Given the description of an element on the screen output the (x, y) to click on. 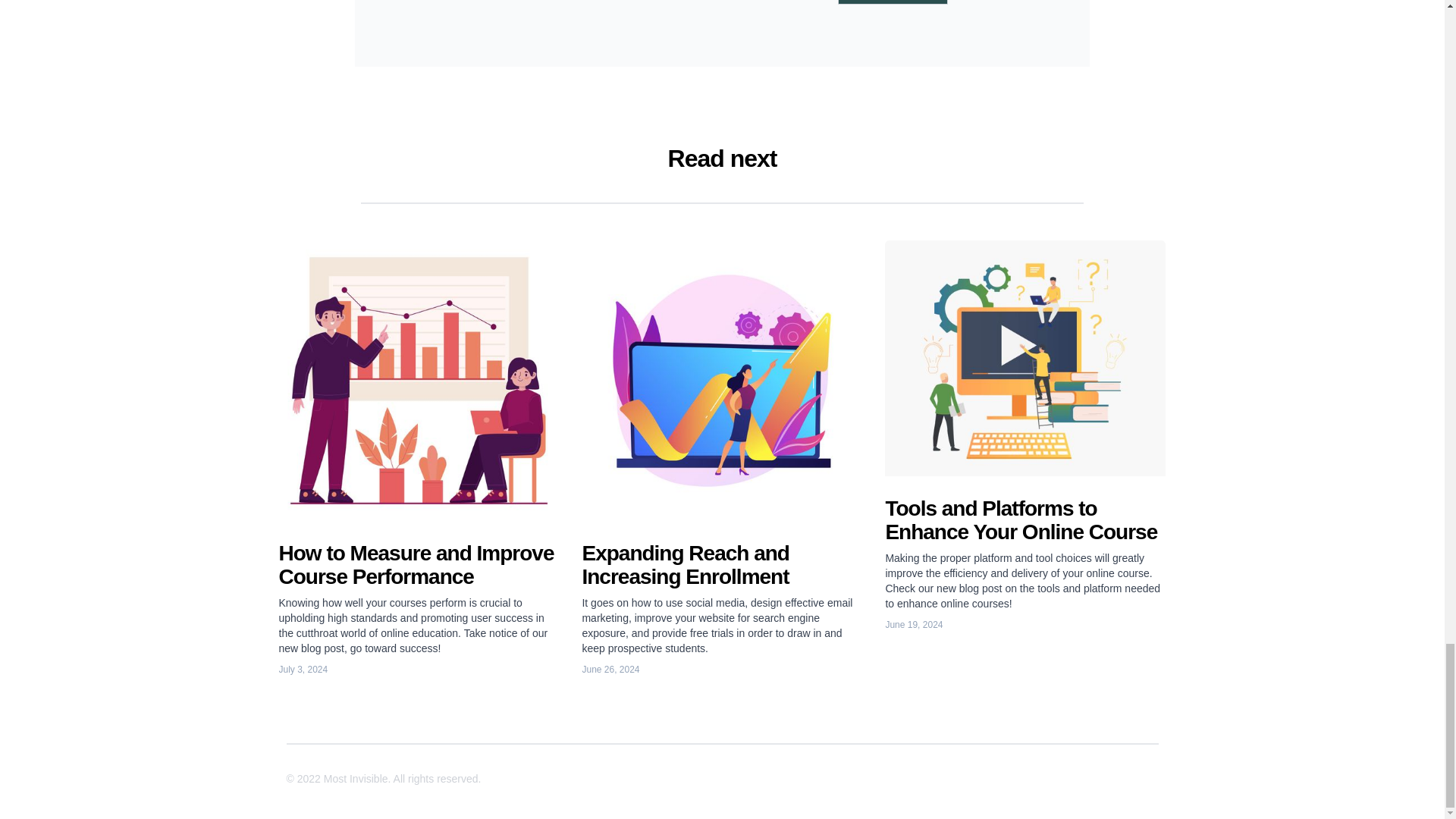
Join Newsletter (893, 2)
Join Newsletter (893, 2)
